Given the description of an element on the screen output the (x, y) to click on. 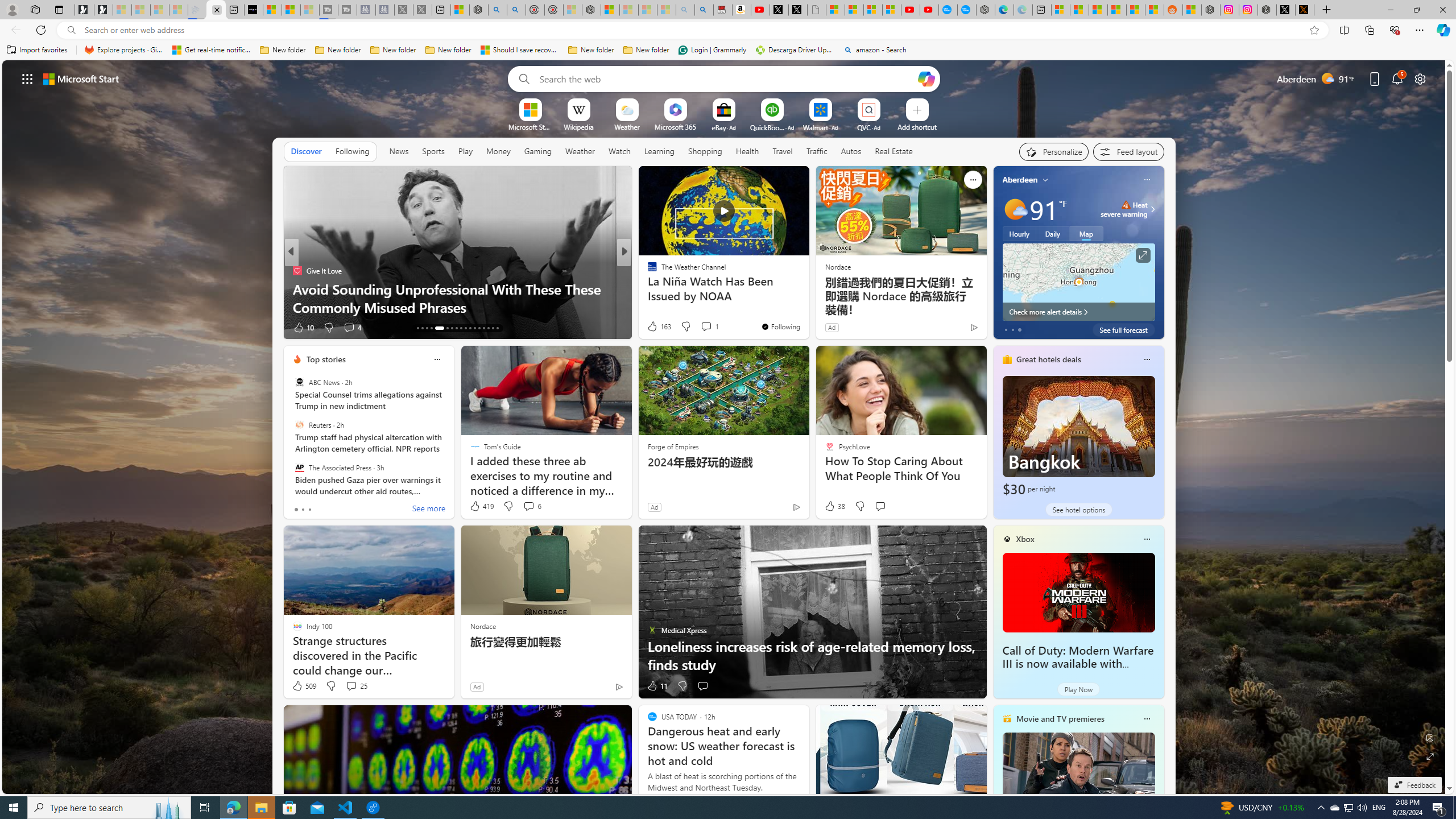
View comments 5 Comment (698, 327)
Microsoft start (81, 78)
140 Like (654, 327)
You're following The Weather Channel (780, 326)
20 Like (652, 327)
View comments 25 Comment (355, 685)
